Given the description of an element on the screen output the (x, y) to click on. 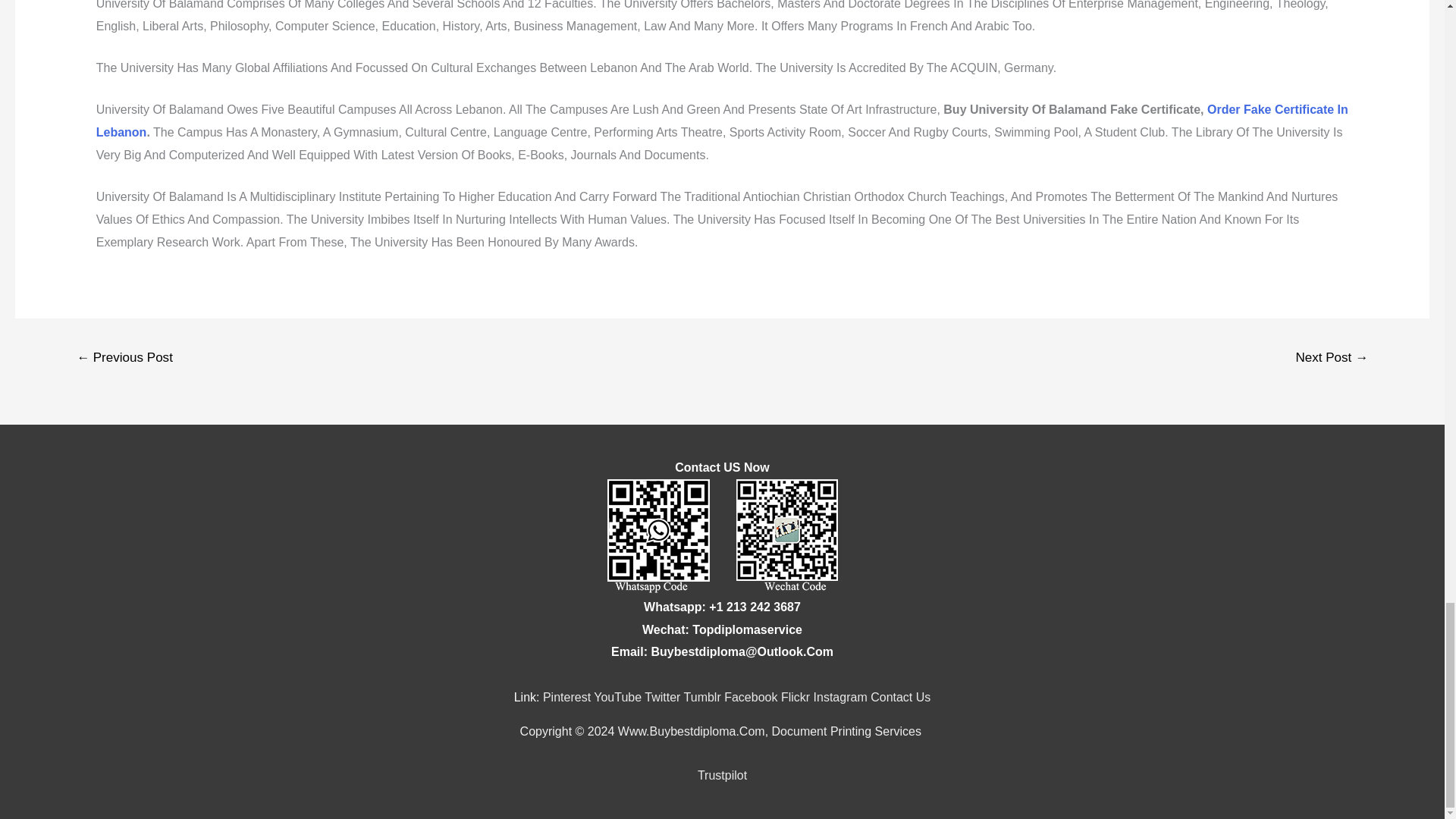
Tumblr (702, 697)
Twitter (662, 697)
Pinterest (567, 697)
Order Fake Certificate In Lebanon (722, 120)
YouTube (618, 697)
